Given the description of an element on the screen output the (x, y) to click on. 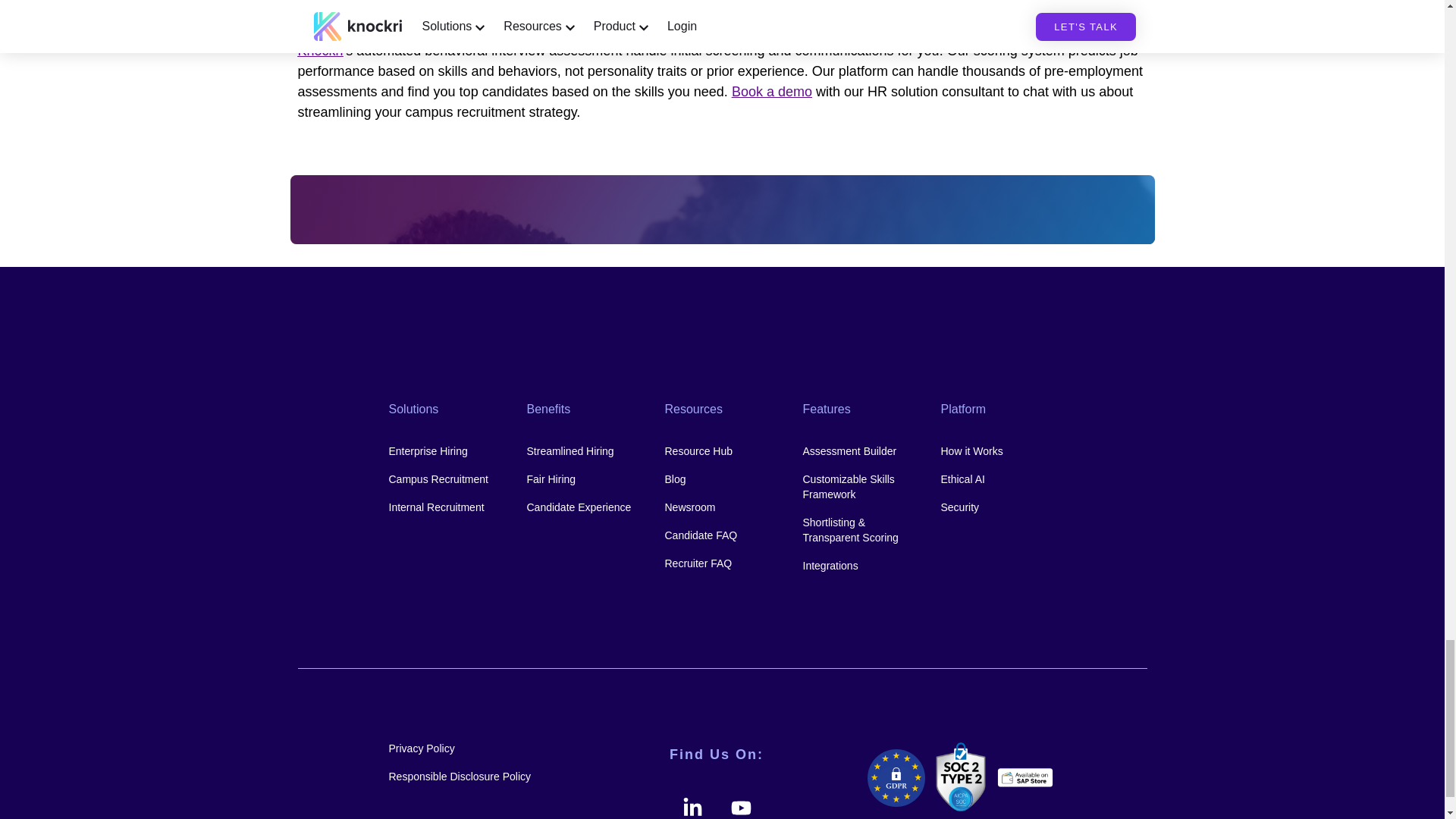
Enterprise Hiring (445, 450)
Ethical AI (997, 478)
Blog (720, 478)
Candidate FAQ (720, 534)
Internal Recruitment (445, 507)
Campus Recruitment (445, 478)
How it Works (997, 450)
Resource Hub (720, 450)
Book a demo (772, 91)
Streamlined Hiring (583, 450)
